Given the description of an element on the screen output the (x, y) to click on. 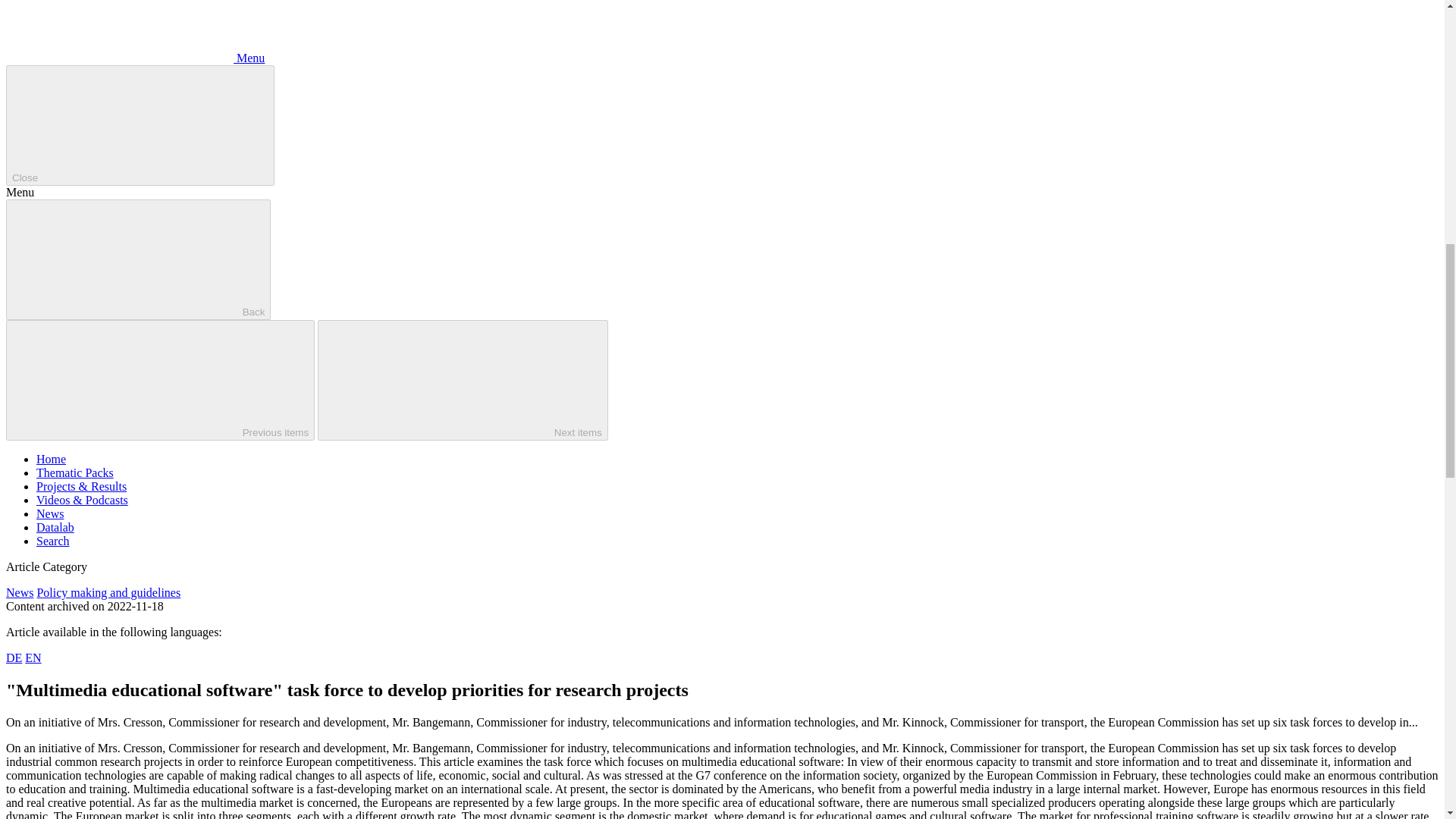
Home (50, 459)
DE (13, 657)
Search (52, 540)
Previous items (159, 380)
News (19, 592)
News (50, 513)
Close (140, 125)
Datalab (55, 526)
Thematic Packs (74, 472)
Next items (462, 380)
